Given the description of an element on the screen output the (x, y) to click on. 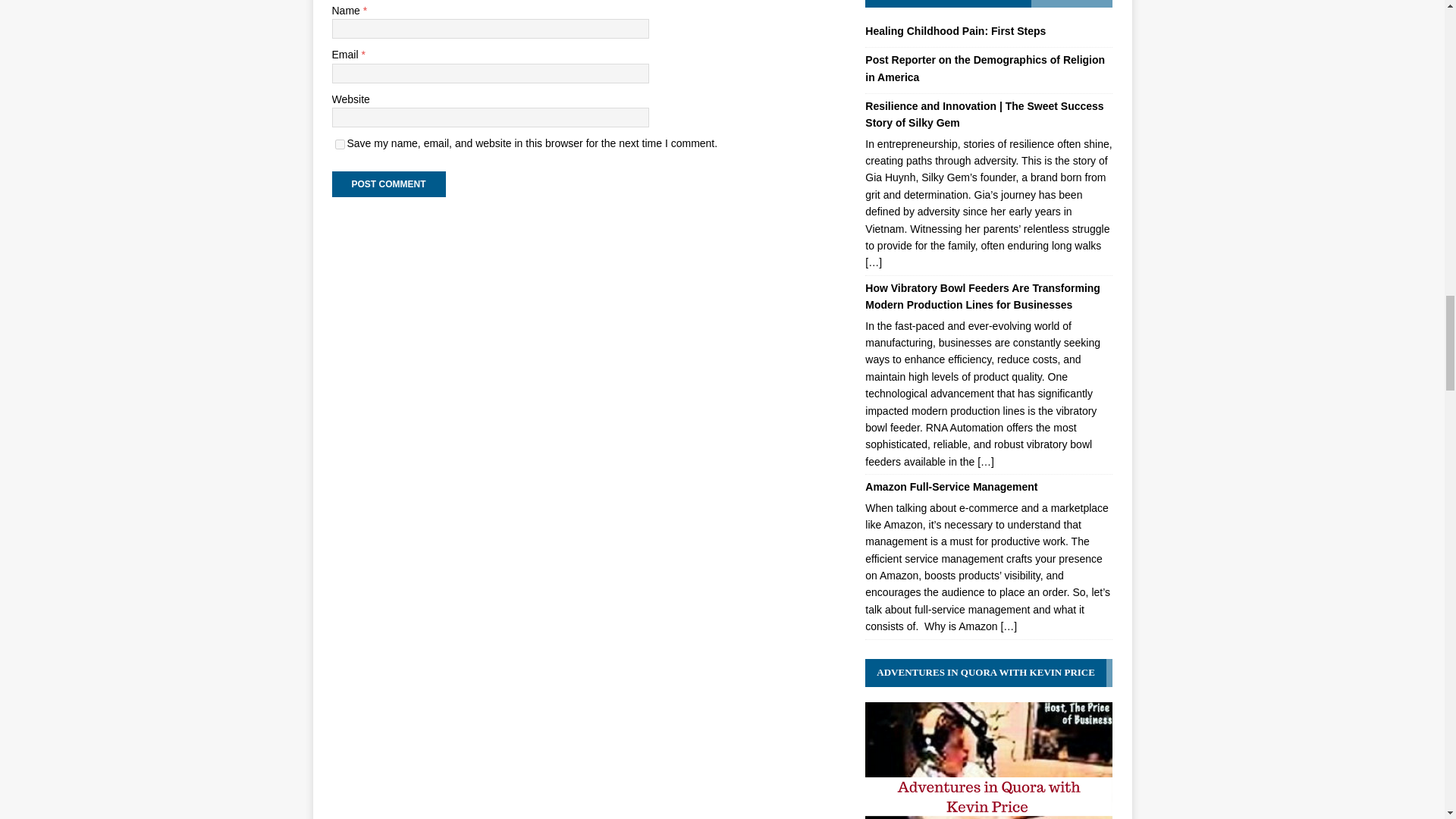
yes (339, 144)
Post Comment (388, 184)
